Given the description of an element on the screen output the (x, y) to click on. 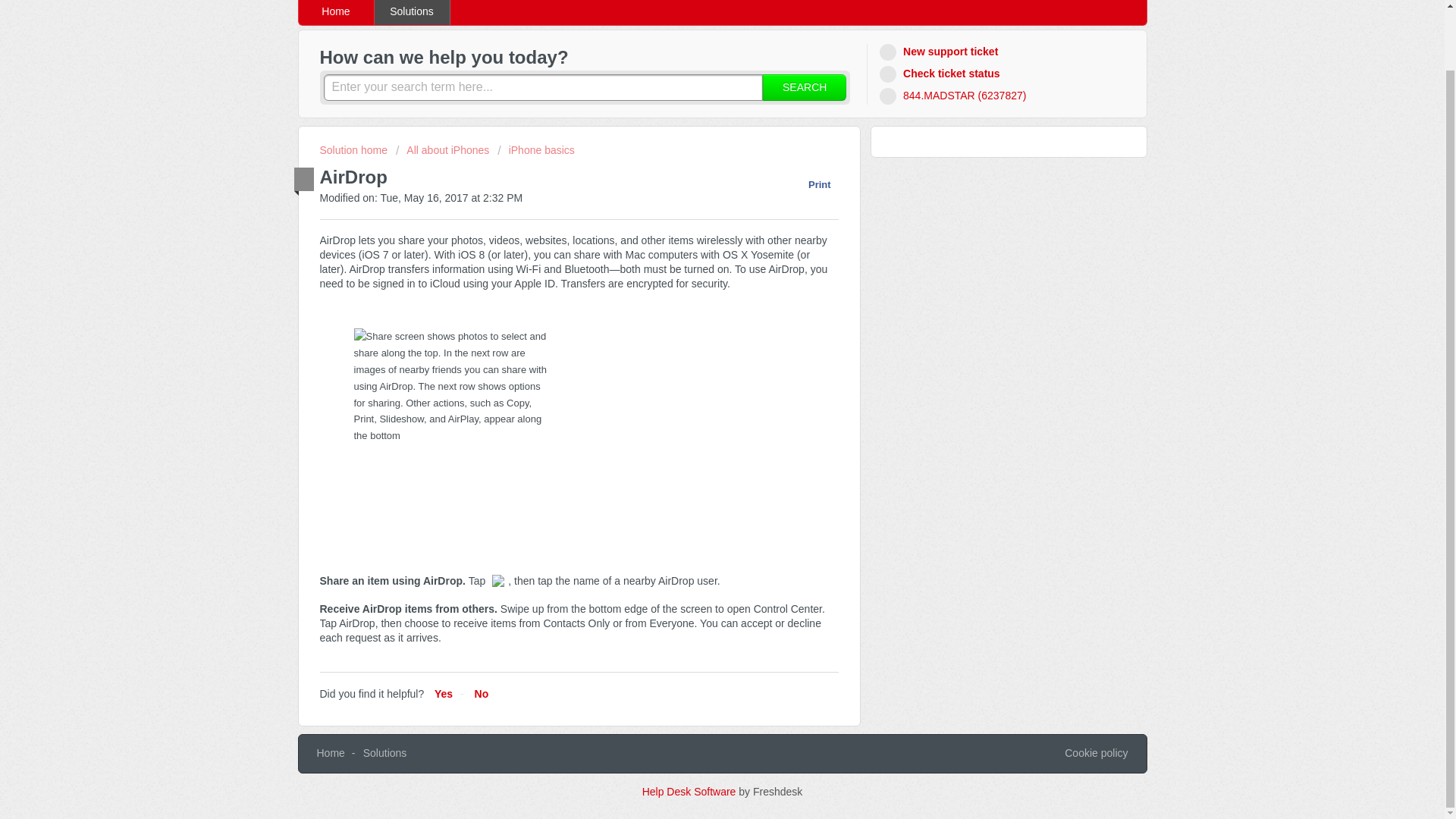
Check ticket status (941, 74)
Home (336, 12)
Help Desk Software (690, 791)
Home (331, 752)
New support ticket (940, 51)
SEARCH (803, 87)
New support ticket (940, 51)
Solutions (411, 12)
Cookie policy (1095, 753)
Solution home (355, 150)
Print this Article (812, 184)
Print (812, 184)
iPhone basics (536, 150)
Why we love Cookies (1095, 753)
All about iPhones (442, 150)
